Given the description of an element on the screen output the (x, y) to click on. 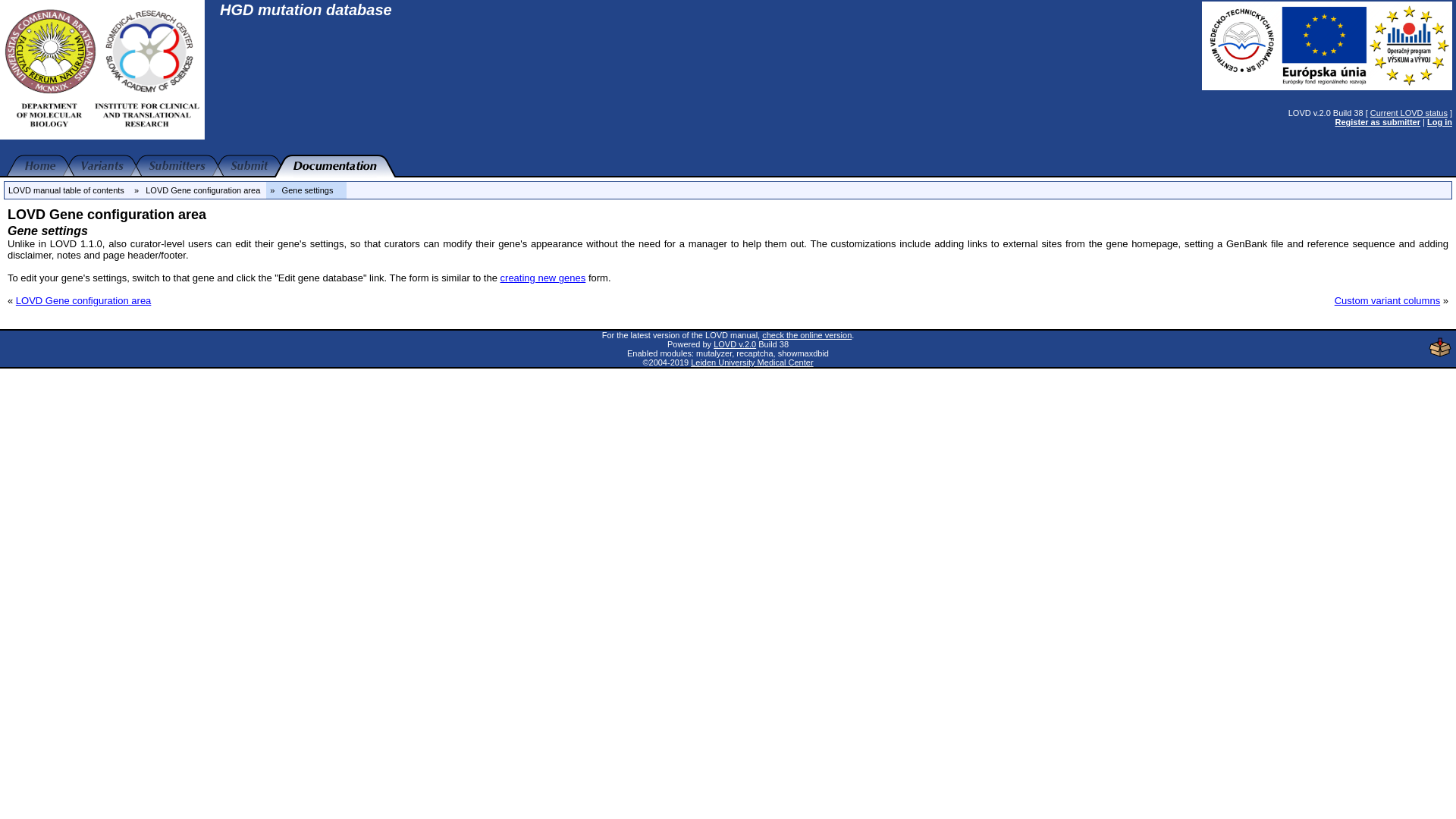
Home (40, 165)
check the online version (806, 334)
View unique variants (102, 165)
All done! (1408, 348)
Log in (1438, 121)
Register as submitter (1378, 121)
LOVD manual table of contents (335, 165)
Leiden University Medical Center (751, 361)
LOVD Gene configuration area (83, 300)
Submit new data (248, 165)
Public list of submitters (176, 165)
Current LOVD status (1408, 112)
LOVD manual table of contents (65, 189)
LOVD v.2.0 (734, 343)
creating new genes (543, 277)
